Given the description of an element on the screen output the (x, y) to click on. 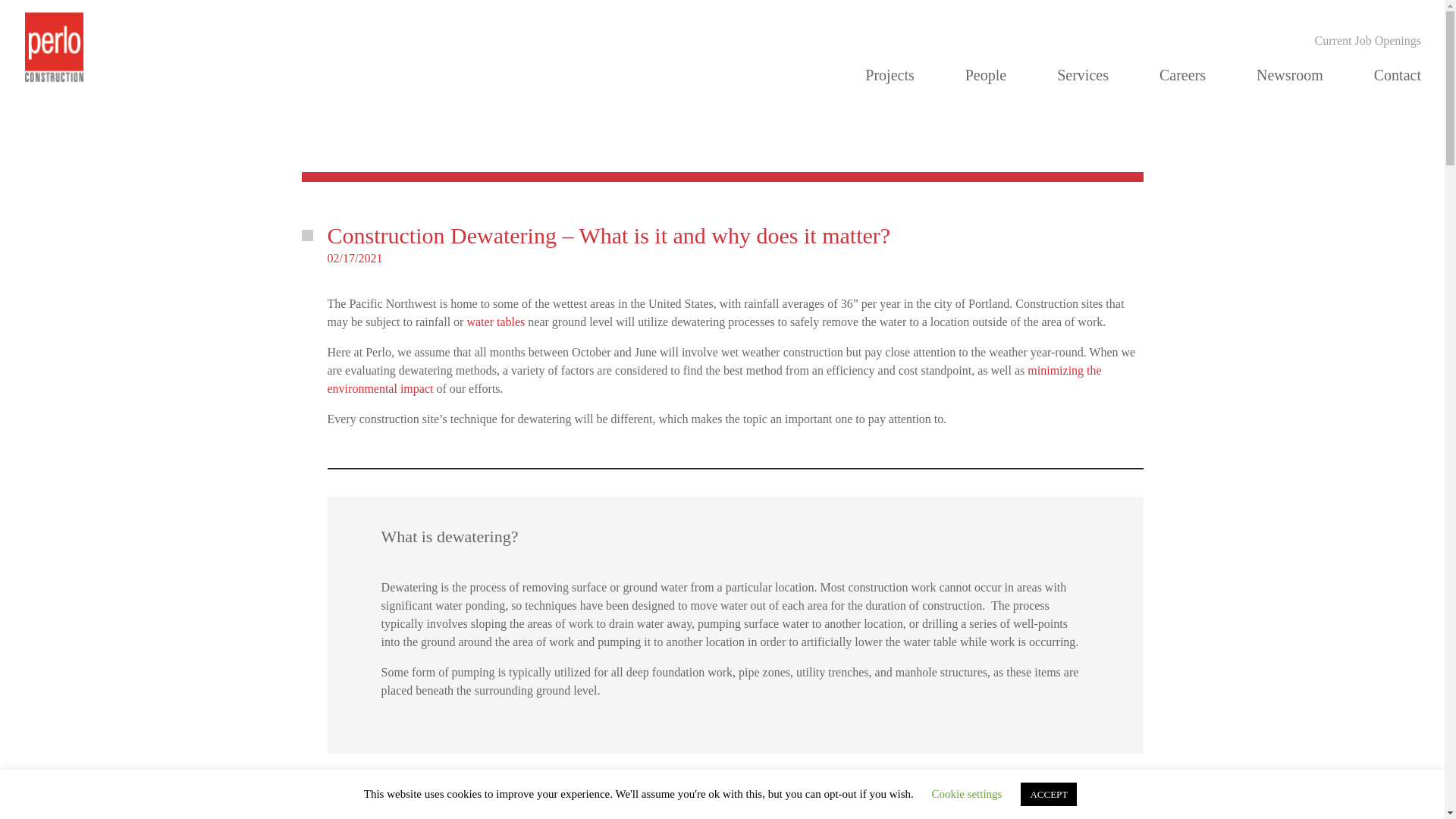
People (985, 74)
Cookie settings (967, 793)
Services (1082, 74)
Careers (1181, 74)
Projects (889, 74)
ACCEPT (1048, 793)
Contact (1397, 74)
Current Job Openings (1367, 40)
Newsroom (1289, 74)
water tables (494, 321)
minimizing the environmental impact (714, 378)
